Given the description of an element on the screen output the (x, y) to click on. 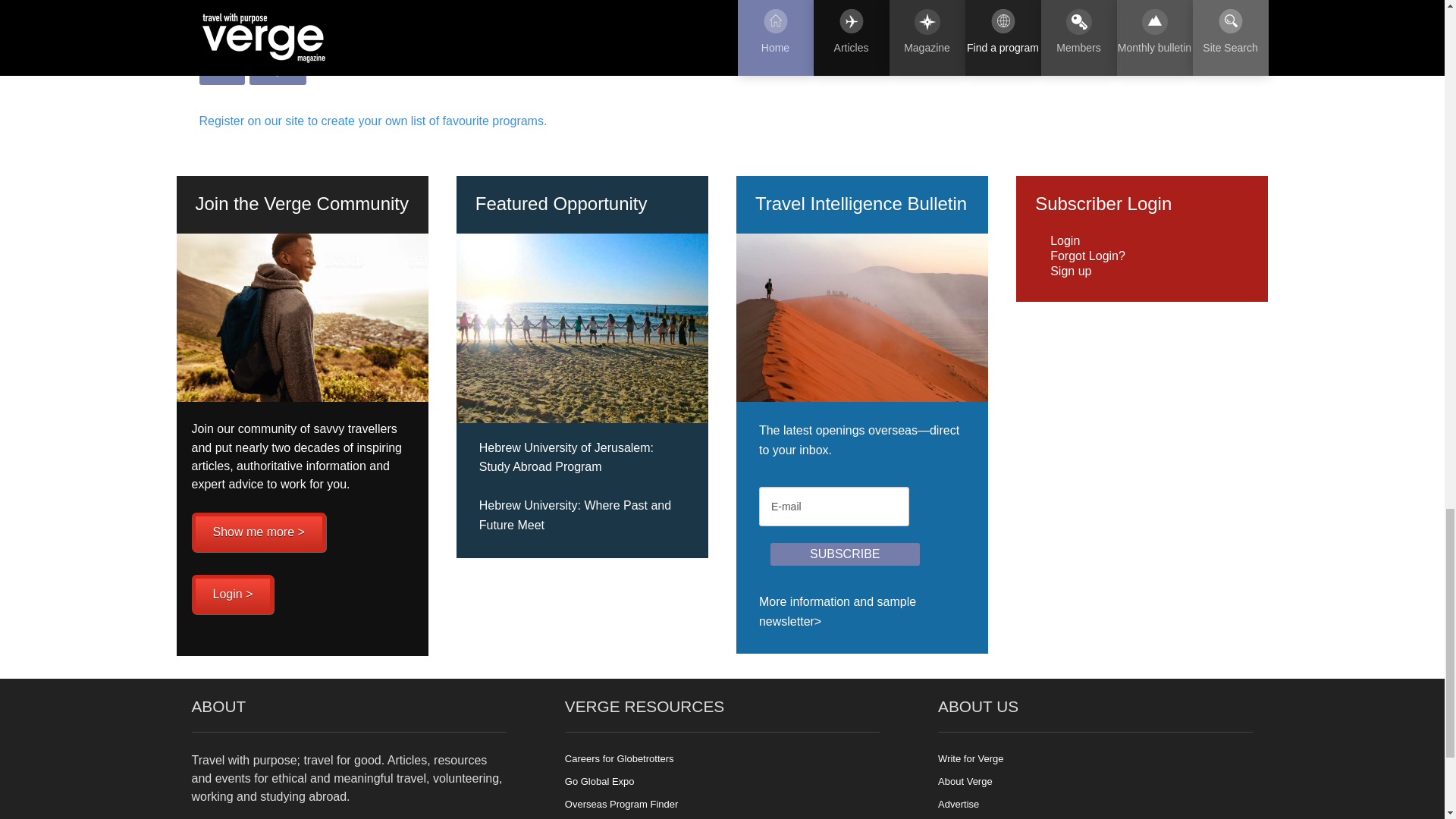
Subscribe (845, 553)
E-mail (833, 506)
Login" (231, 594)
E-mail (833, 506)
Show me more (257, 532)
